Given the description of an element on the screen output the (x, y) to click on. 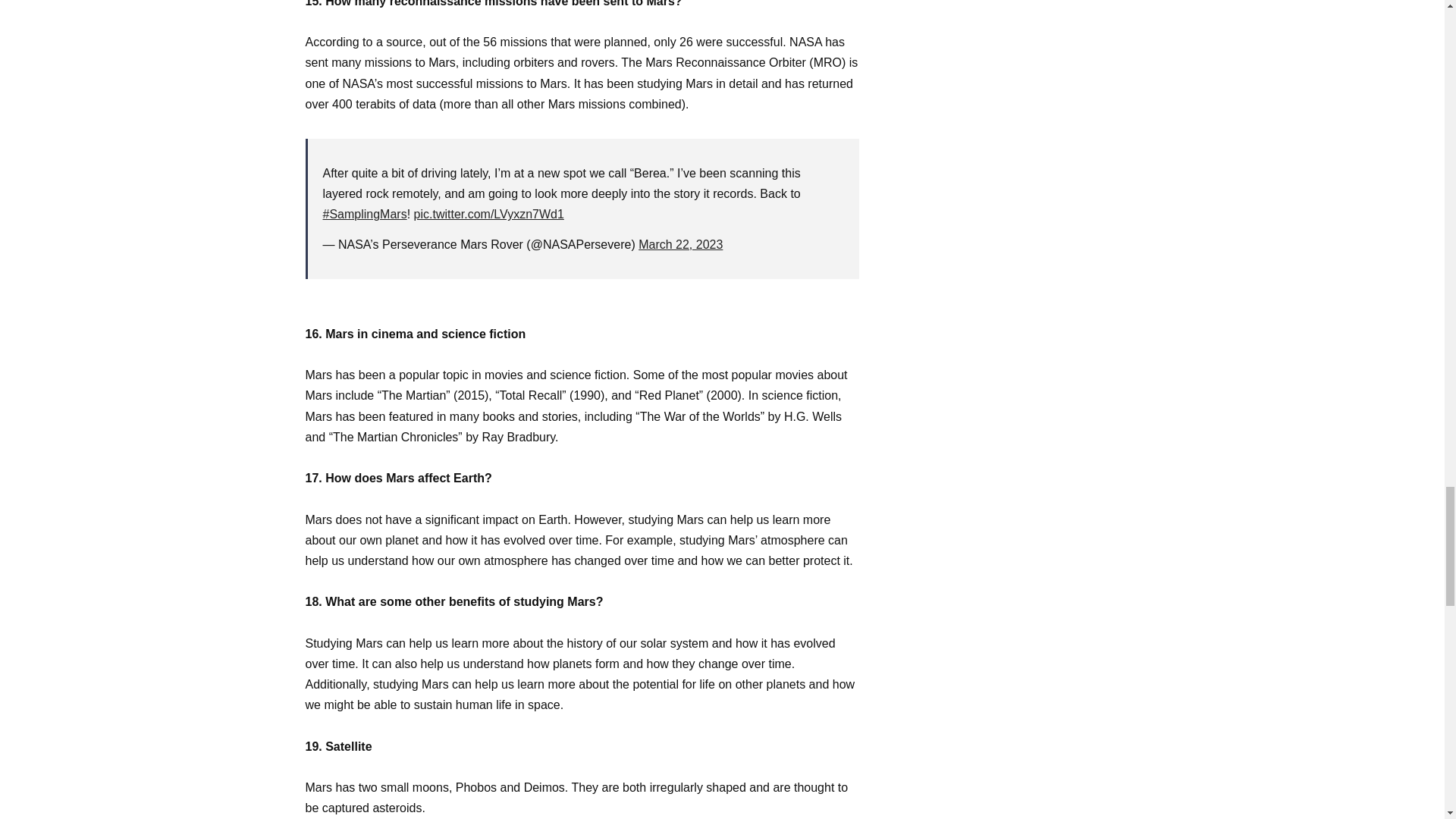
March 22, 2023 (680, 244)
